Given the description of an element on the screen output the (x, y) to click on. 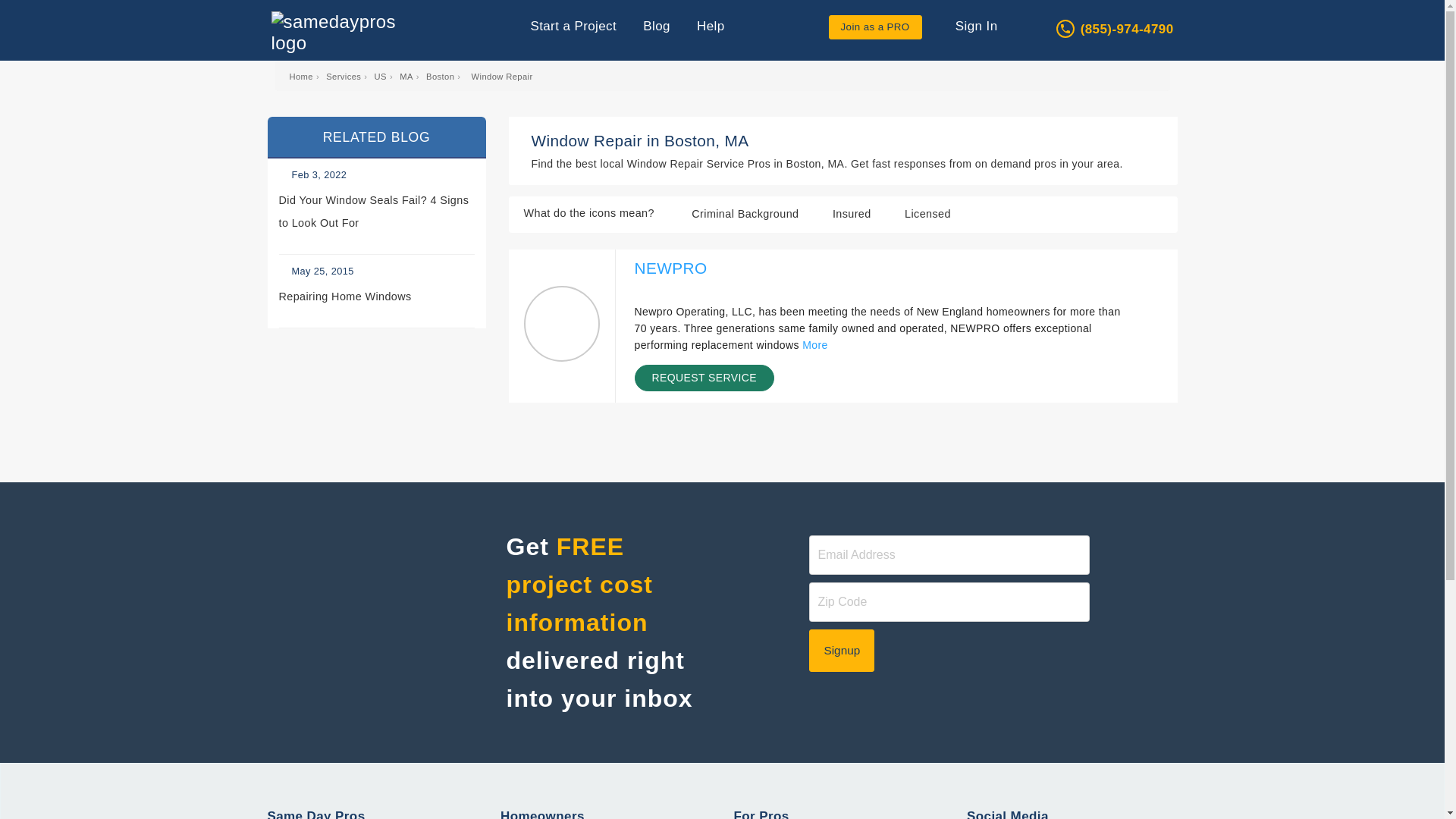
Signup (842, 650)
NEWPRO (669, 267)
Window Repair (501, 76)
Sign In (970, 25)
Did Your Window Seals Fail? 4 Signs to Look Out For (376, 214)
Help (711, 25)
Boston (440, 76)
MA (406, 76)
More (815, 345)
Insured (702, 289)
